Given the description of an element on the screen output the (x, y) to click on. 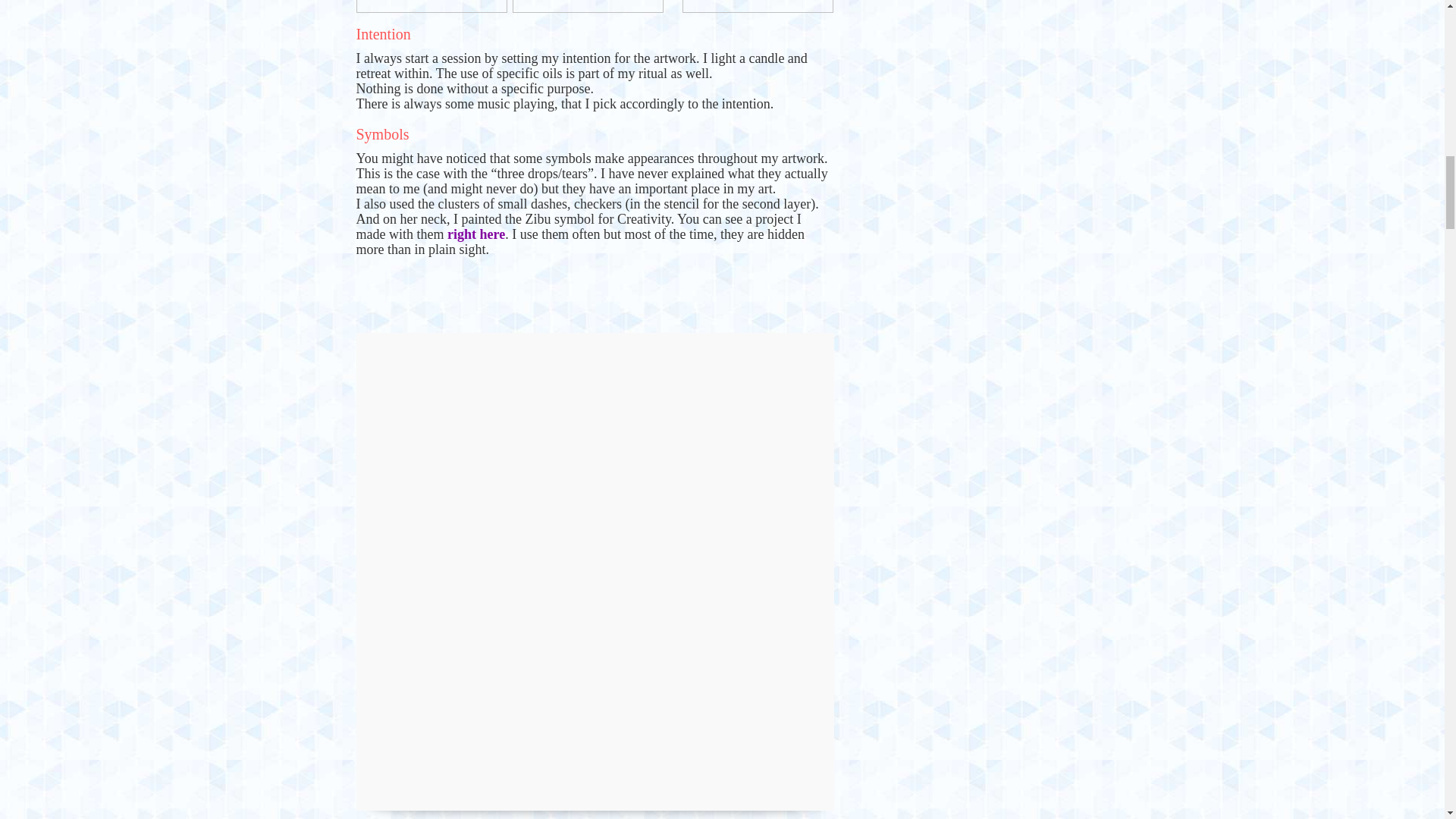
right here (475, 233)
